Given the description of an element on the screen output the (x, y) to click on. 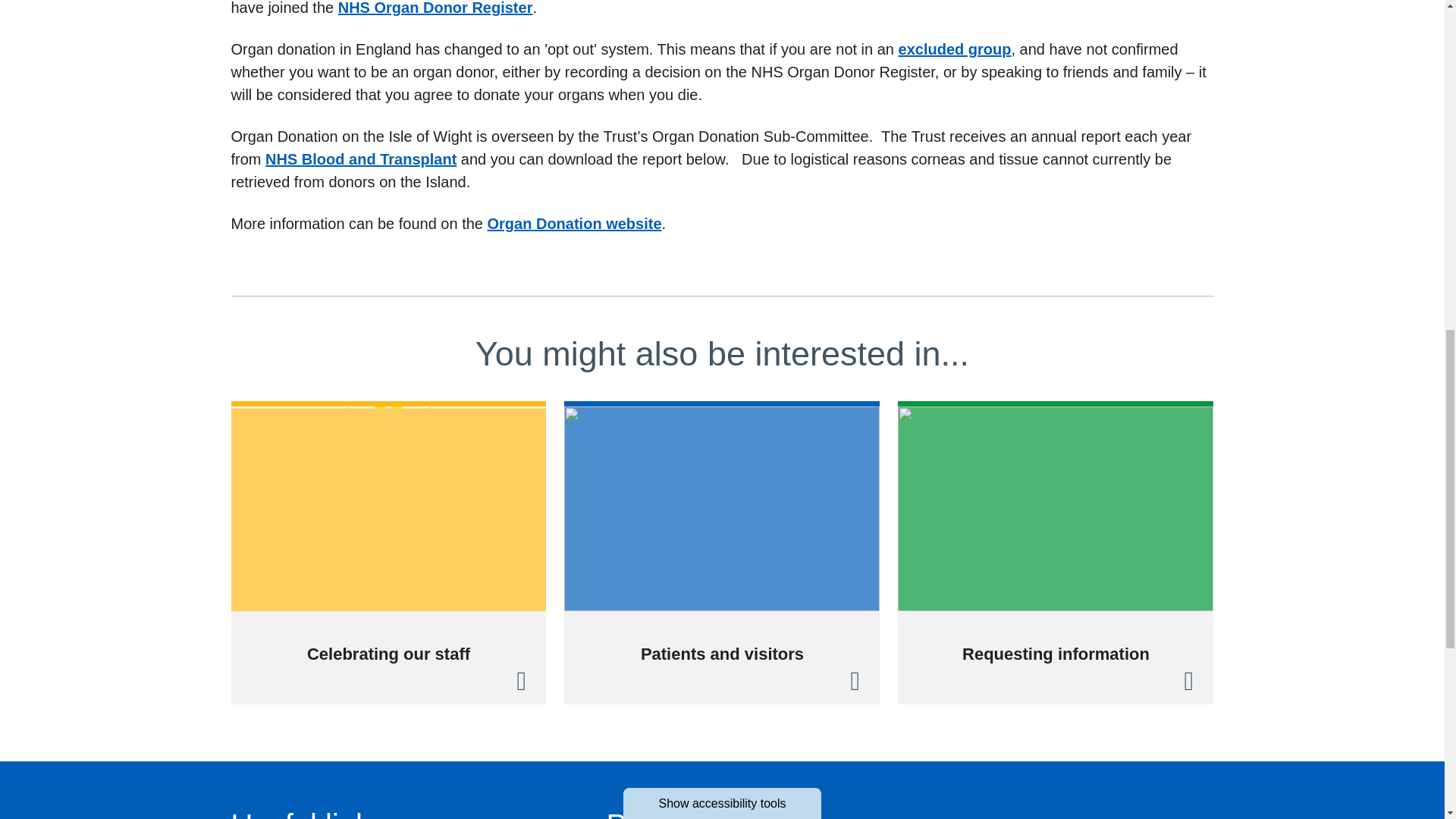
Patients and visitors (721, 552)
Celebrating our staff (388, 552)
Requesting information (1055, 552)
